Given the description of an element on the screen output the (x, y) to click on. 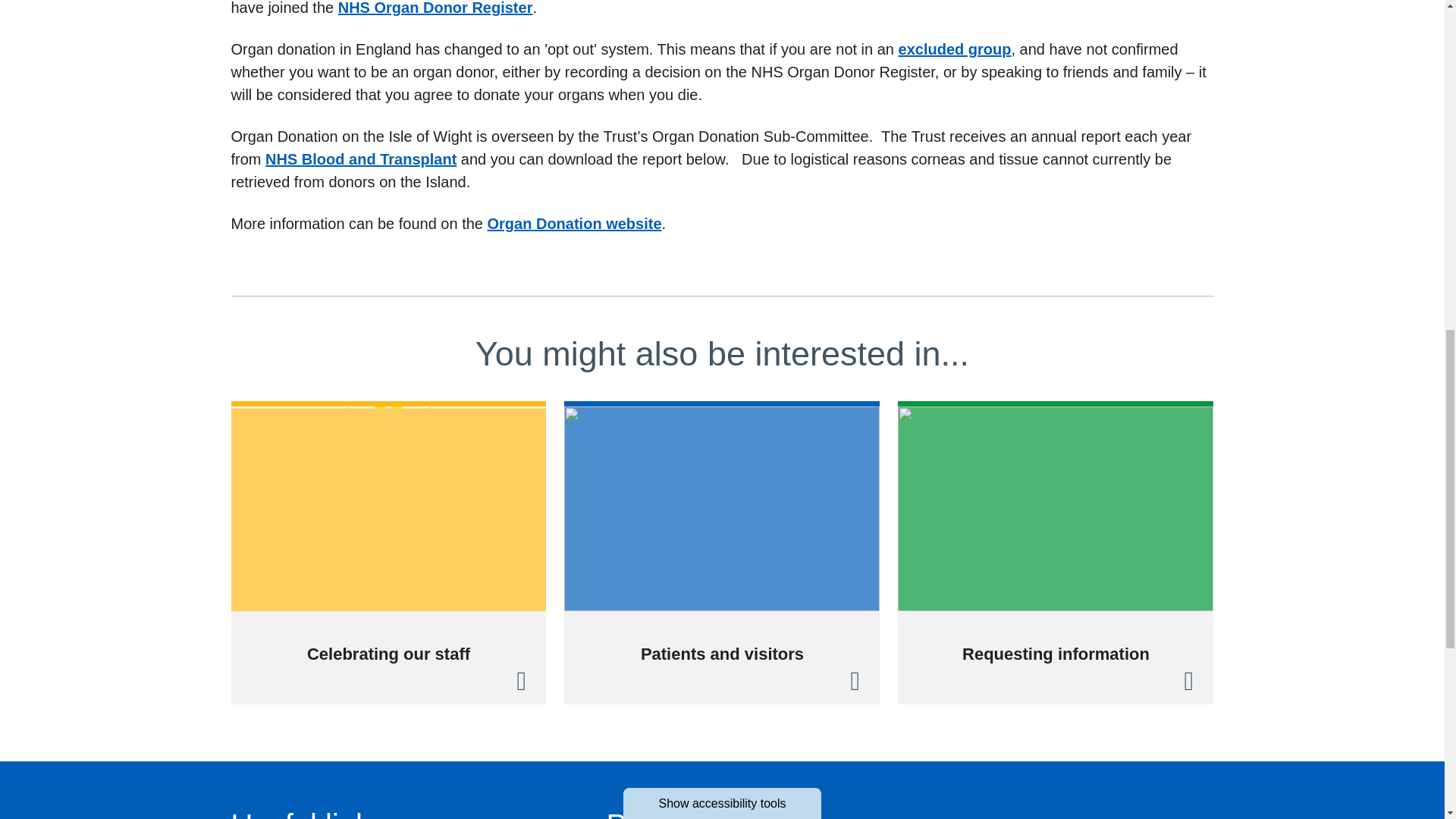
Patients and visitors (721, 552)
Celebrating our staff (388, 552)
Requesting information (1055, 552)
